Given the description of an element on the screen output the (x, y) to click on. 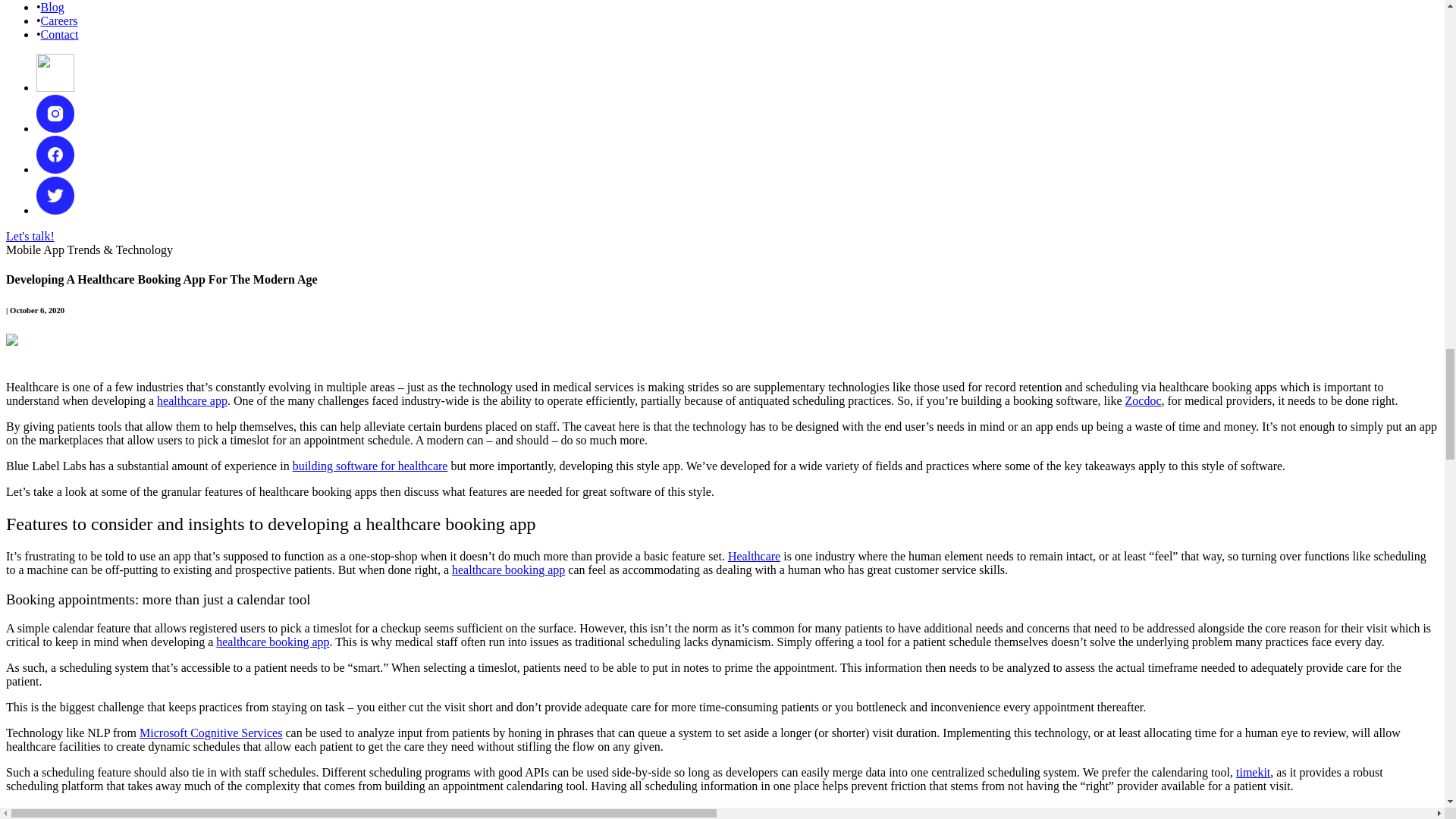
Let's talk! (30, 236)
timekit (1252, 771)
healthcare booking app (272, 641)
Blog (52, 6)
building software for healthcare (370, 465)
Microsoft Cognitive Services (210, 732)
healthcare booking app (507, 569)
Careers (59, 20)
healthcare app (192, 400)
Zocdoc (1143, 400)
Contact (59, 33)
Healthcare (754, 555)
